Given the description of an element on the screen output the (x, y) to click on. 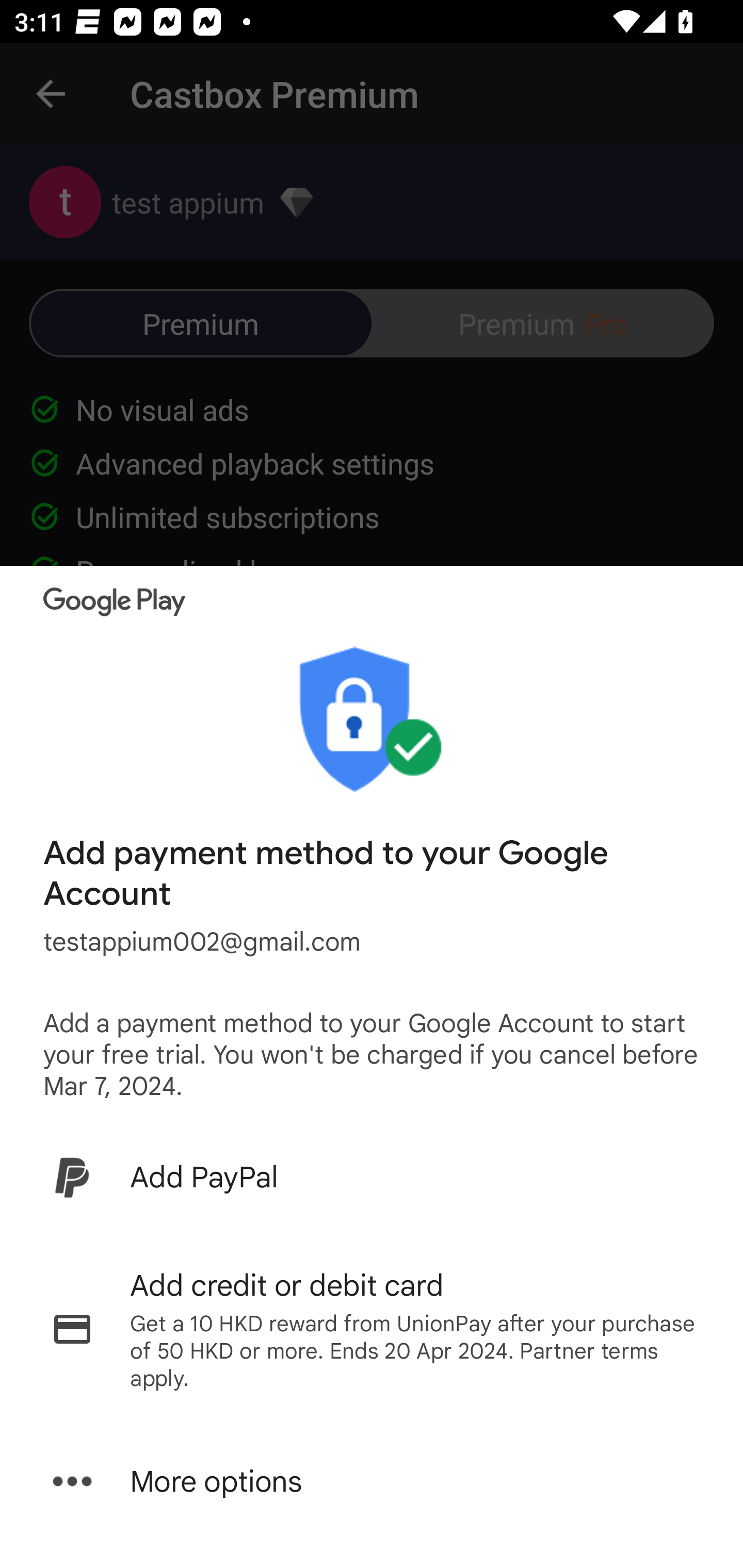
Add PayPal (371, 1177)
More options (371, 1481)
